Given the description of an element on the screen output the (x, y) to click on. 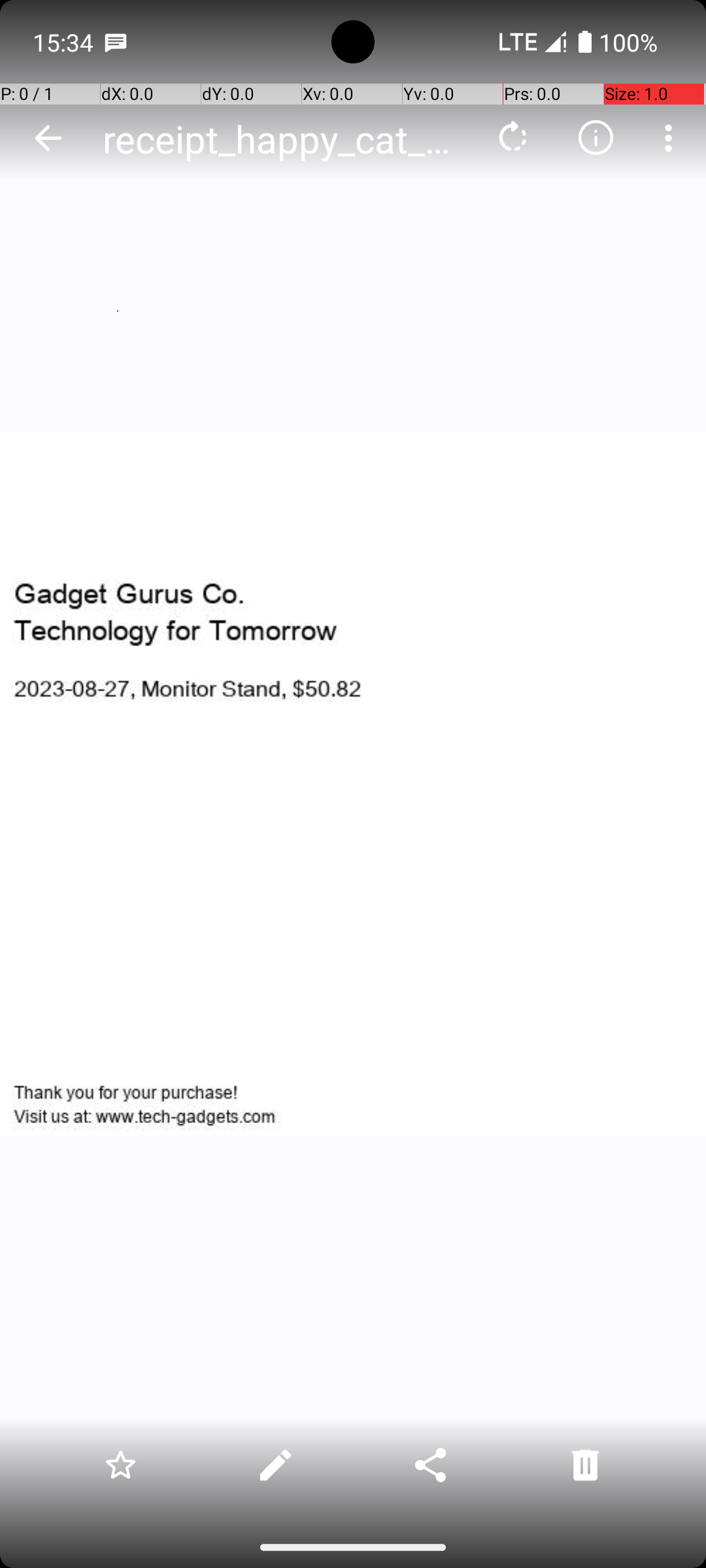
receipt_happy_cat_2023_03_20.jpg Element type: android.widget.TextView (283, 138)
Toggle favorite Element type: android.widget.ImageView (120, 1464)
